Given the description of an element on the screen output the (x, y) to click on. 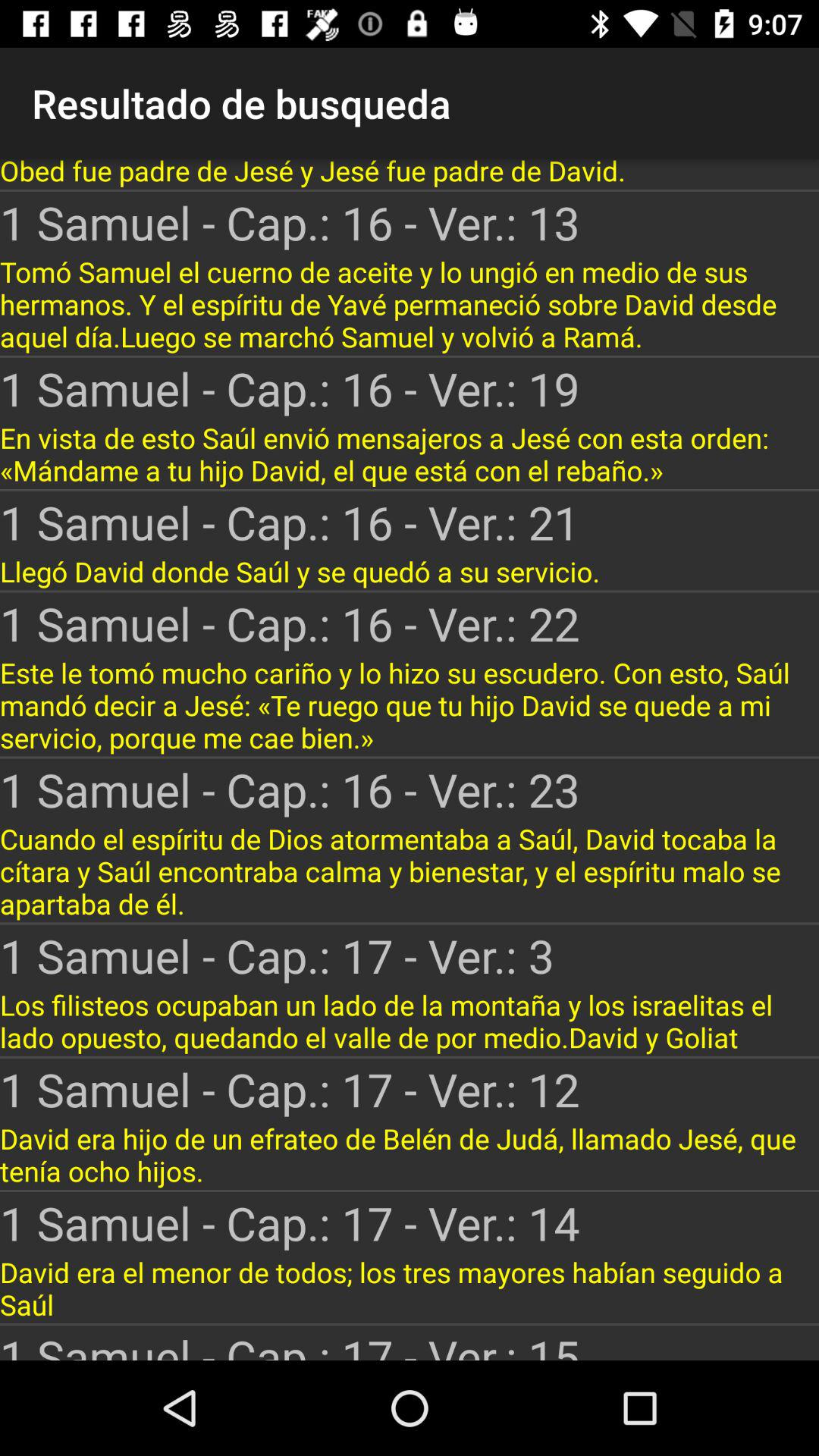
select the icon below the 1 samuel cap icon (409, 1021)
